Given the description of an element on the screen output the (x, y) to click on. 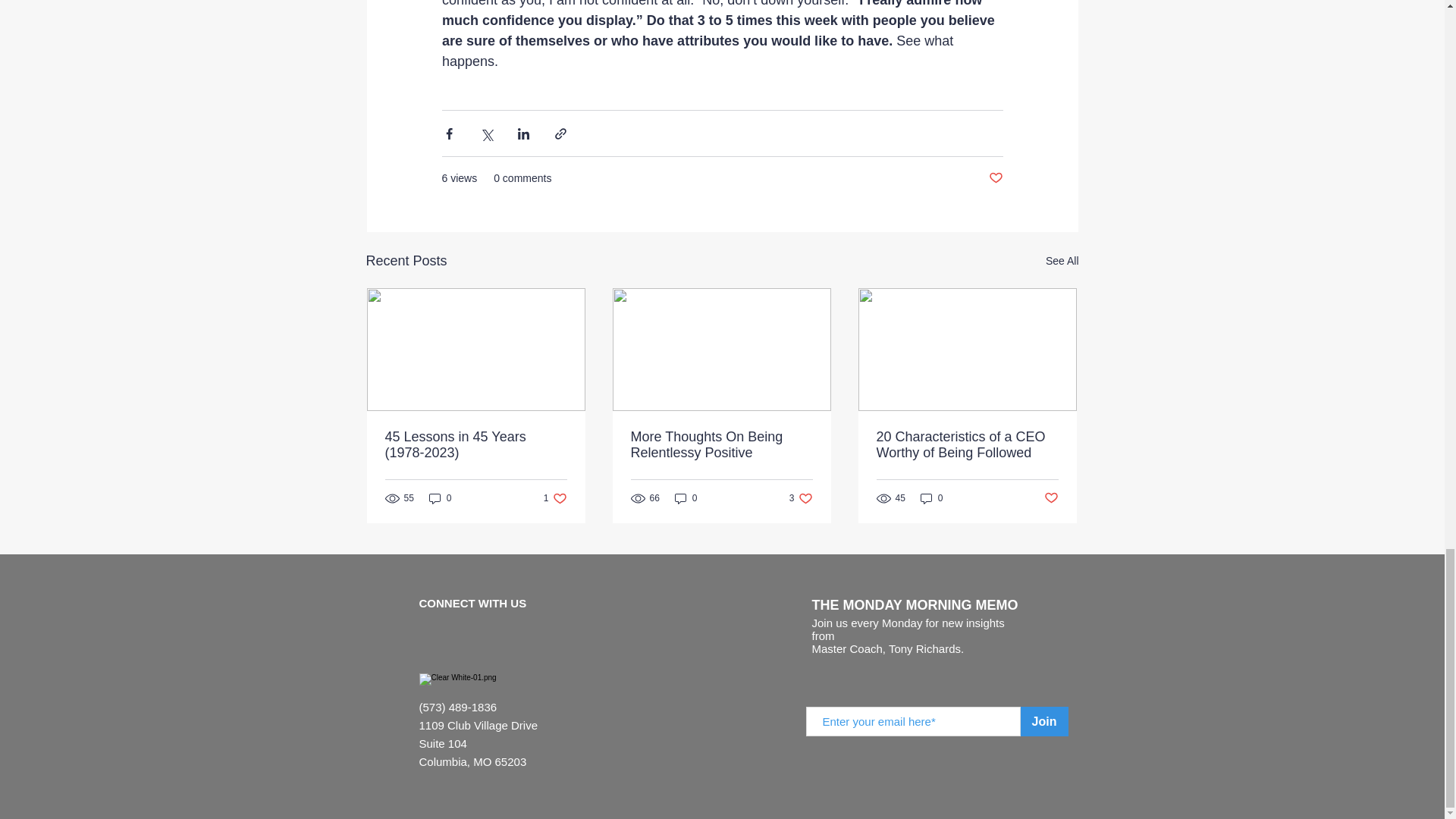
See All (1061, 260)
20 Characteristics of a CEO Worthy of Being Followed (967, 445)
Post not marked as liked (800, 498)
More Thoughts On Being Relentlessy Positive (995, 178)
Post not marked as liked (721, 445)
0 (555, 498)
0 (1050, 498)
0 (931, 498)
